Given the description of an element on the screen output the (x, y) to click on. 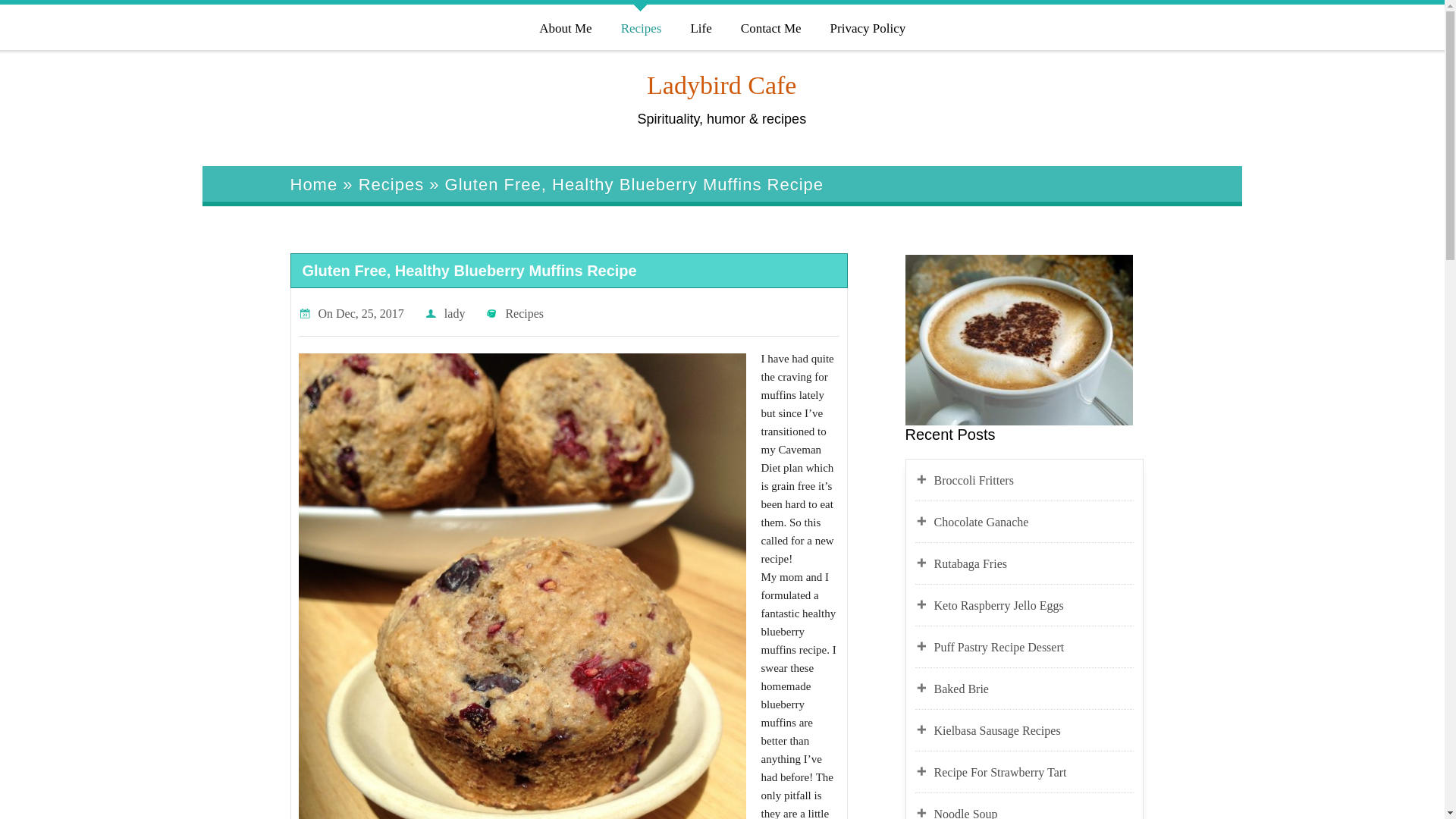
Ladybird Cafe (721, 85)
Puff Pastry Recipe Dessert (1034, 647)
Rutabaga Fries (1034, 564)
Recipes (640, 26)
Noodle Soup (1034, 812)
About Me (564, 26)
Keto Raspberry Jello Eggs (1034, 606)
Ladybird Cafe (721, 85)
lady (454, 313)
Recipes (524, 313)
